Given the description of an element on the screen output the (x, y) to click on. 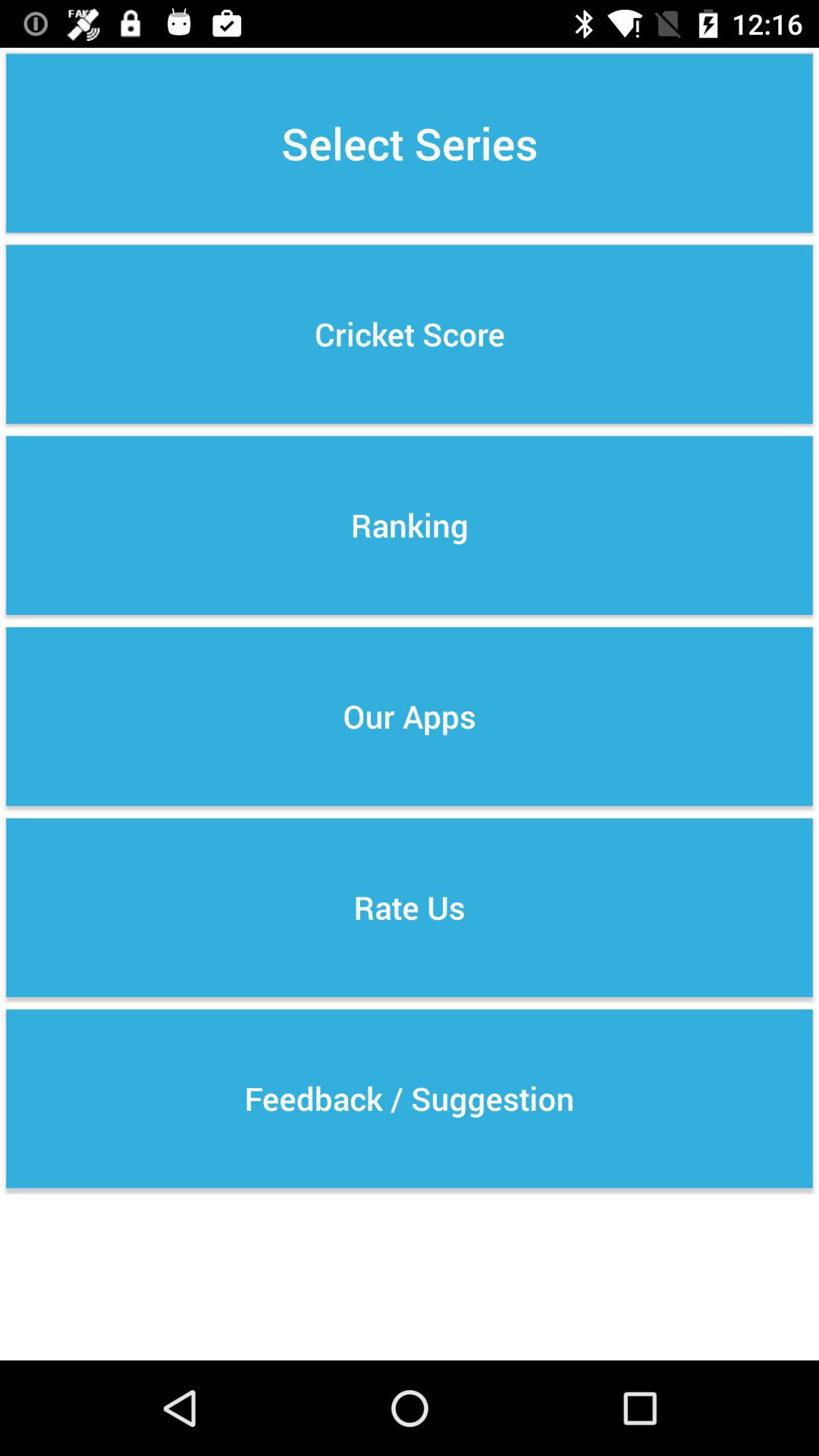
scroll to cricket score item (409, 334)
